Given the description of an element on the screen output the (x, y) to click on. 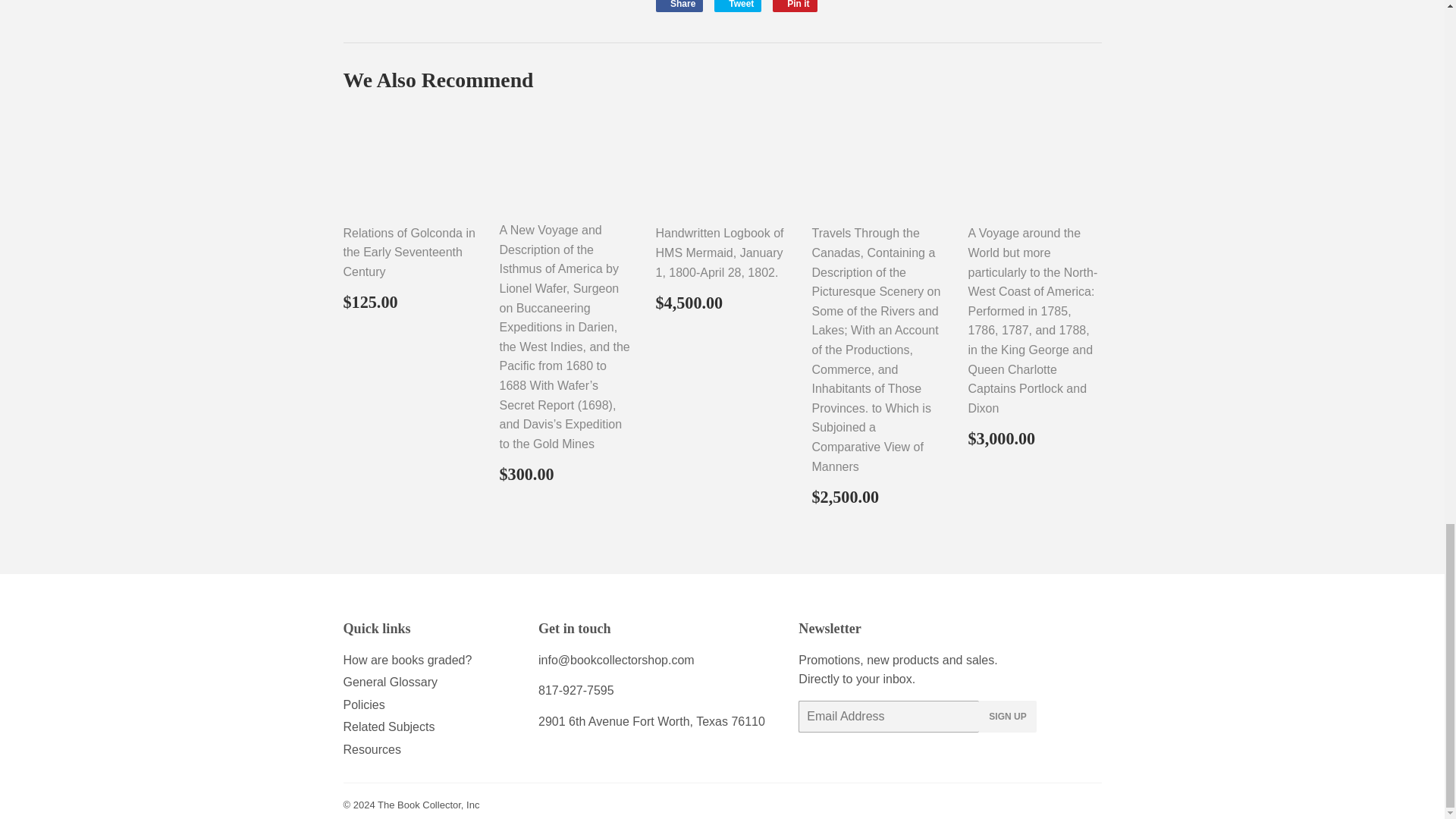
Tweet on Twitter (737, 6)
Pin on Pinterest (737, 6)
Share on Facebook (794, 6)
